Given the description of an element on the screen output the (x, y) to click on. 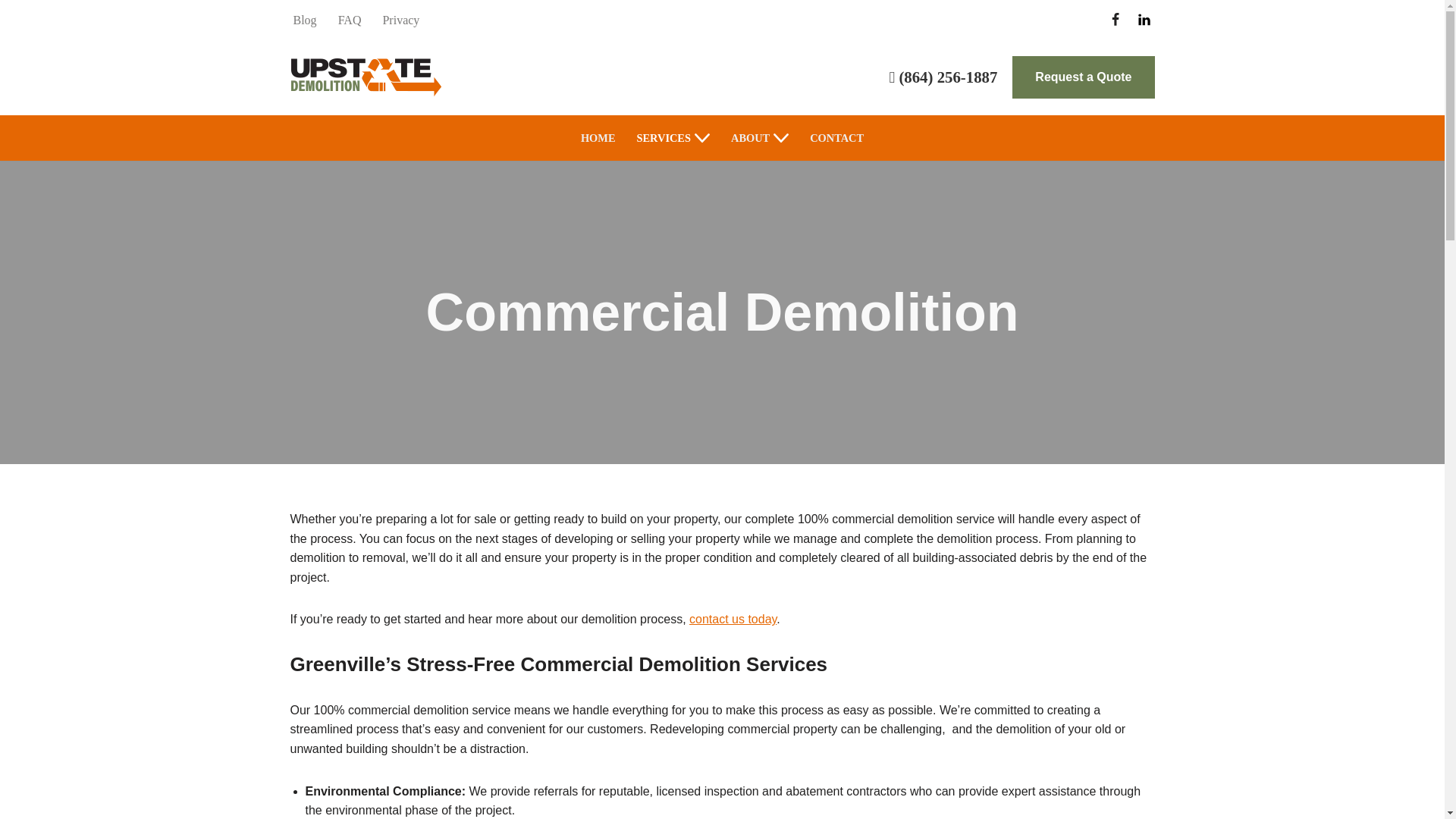
CONTACT (836, 137)
SERVICES (663, 137)
Skip to content (11, 31)
HOME (597, 137)
Privacy (400, 19)
Request a Quote (1082, 77)
LinkedIn (1143, 19)
Facebook (1114, 19)
Contact (836, 137)
ABOUT (750, 137)
